Given the description of an element on the screen output the (x, y) to click on. 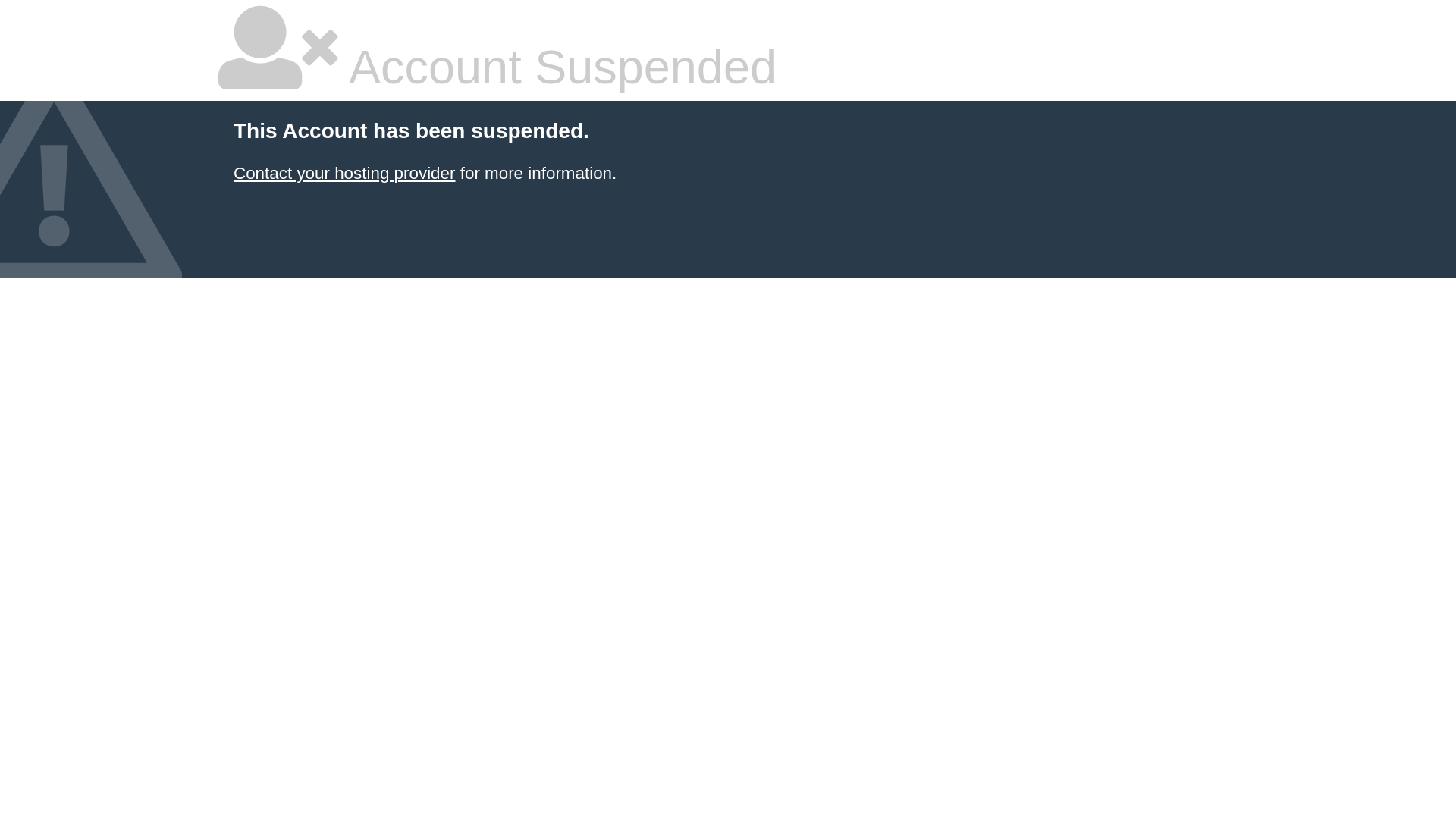
Contact your hosting provider Element type: text (344, 172)
